Given the description of an element on the screen output the (x, y) to click on. 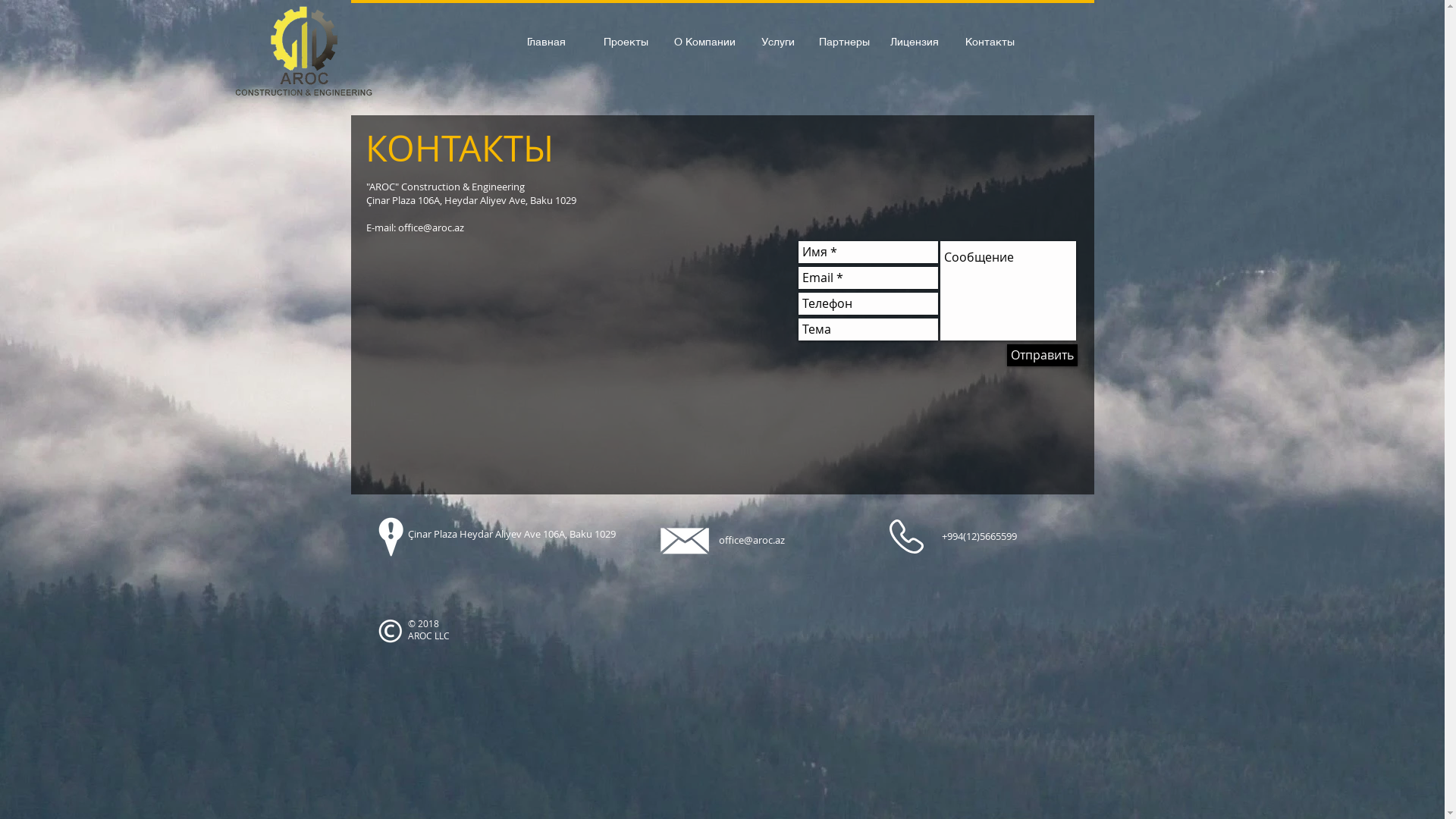
office@aroc.az Element type: text (430, 227)
office@aroc.az Element type: text (751, 539)
